Given the description of an element on the screen output the (x, y) to click on. 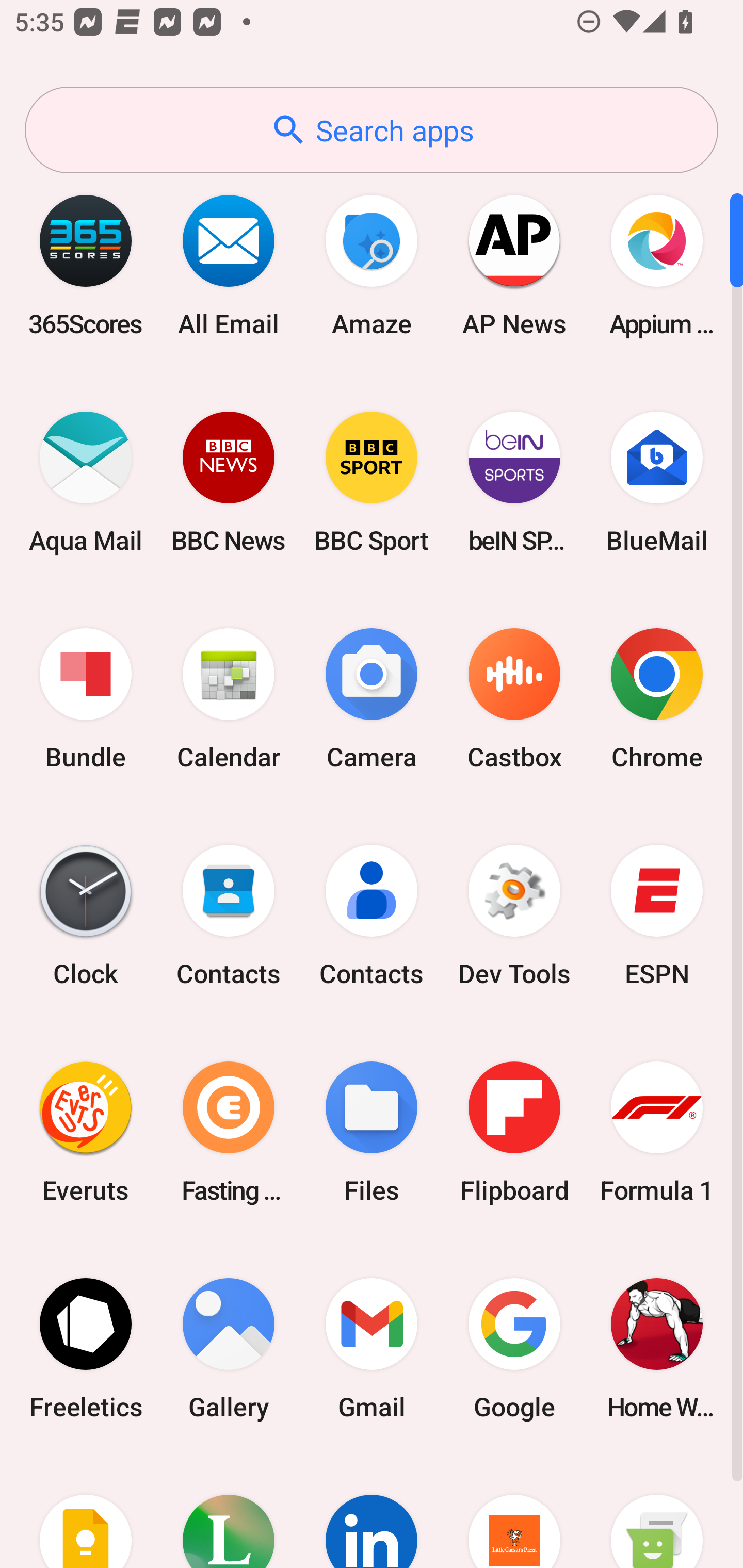
  Search apps (371, 130)
365Scores (85, 264)
All Email (228, 264)
Amaze (371, 264)
AP News (514, 264)
Appium Settings (656, 264)
Aqua Mail (85, 482)
BBC News (228, 482)
BBC Sport (371, 482)
beIN SPORTS (514, 482)
BlueMail (656, 482)
Bundle (85, 699)
Calendar (228, 699)
Camera (371, 699)
Castbox (514, 699)
Chrome (656, 699)
Clock (85, 915)
Contacts (228, 915)
Contacts (371, 915)
Dev Tools (514, 915)
ESPN (656, 915)
Everuts (85, 1131)
Fasting Coach (228, 1131)
Files (371, 1131)
Flipboard (514, 1131)
Formula 1 (656, 1131)
Freeletics (85, 1348)
Gallery (228, 1348)
Gmail (371, 1348)
Google (514, 1348)
Home Workout (656, 1348)
Keep Notes (85, 1512)
Lifesum (228, 1512)
LinkedIn (371, 1512)
Little Caesars Pizza (514, 1512)
Messaging (656, 1512)
